Given the description of an element on the screen output the (x, y) to click on. 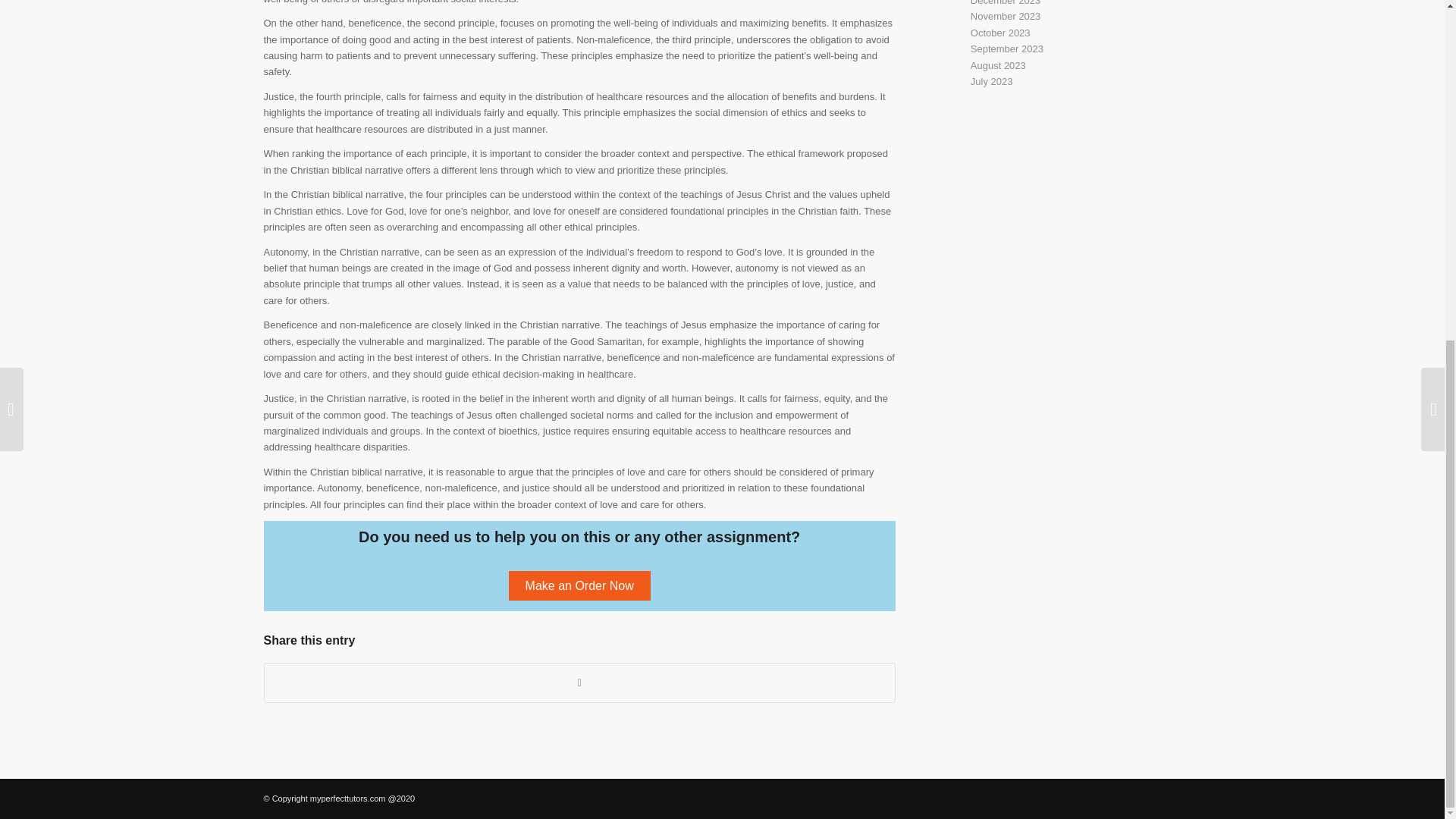
October 2023 (1000, 32)
November 2023 (1006, 16)
December 2023 (1006, 2)
August 2023 (998, 65)
Make an Order Now (579, 585)
September 2023 (1007, 48)
July 2023 (992, 81)
